Given the description of an element on the screen output the (x, y) to click on. 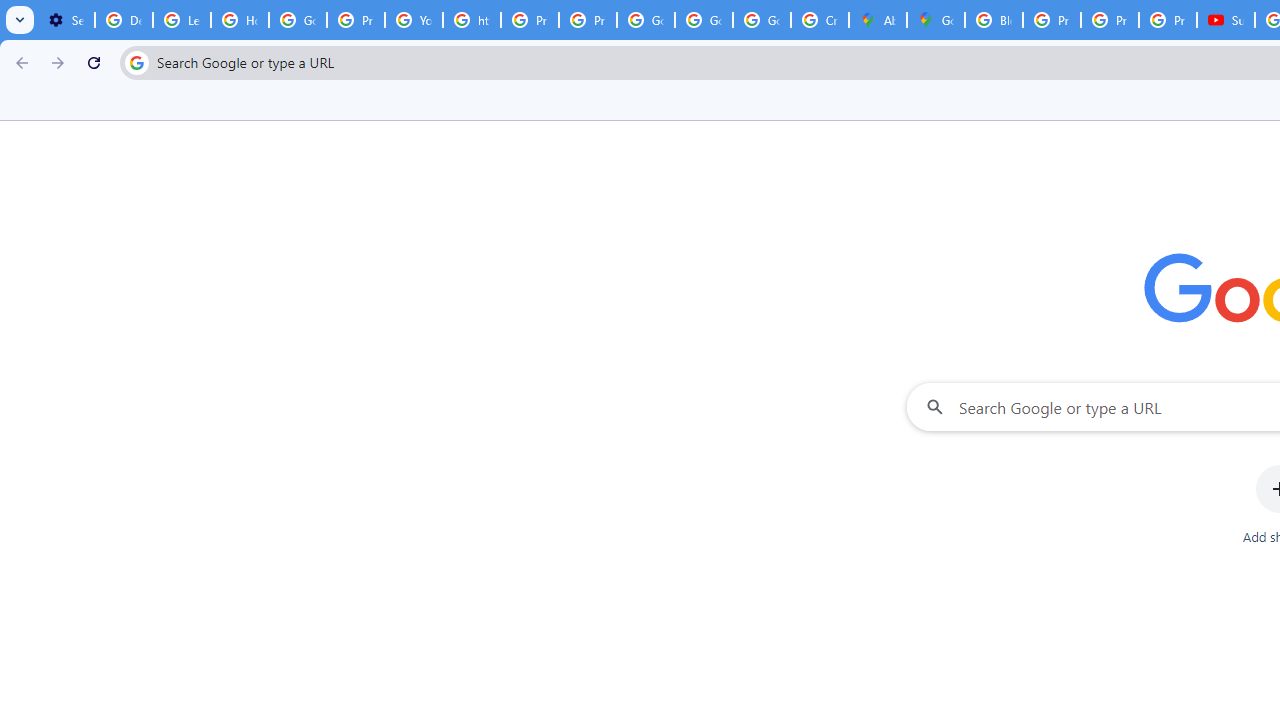
YouTube (413, 20)
https://scholar.google.com/ (471, 20)
Privacy Help Center - Policies Help (355, 20)
Google Maps (936, 20)
Learn how to find your photos - Google Photos Help (181, 20)
Privacy Help Center - Policies Help (1051, 20)
Blogger Policies and Guidelines - Transparency Center (993, 20)
